Given the description of an element on the screen output the (x, y) to click on. 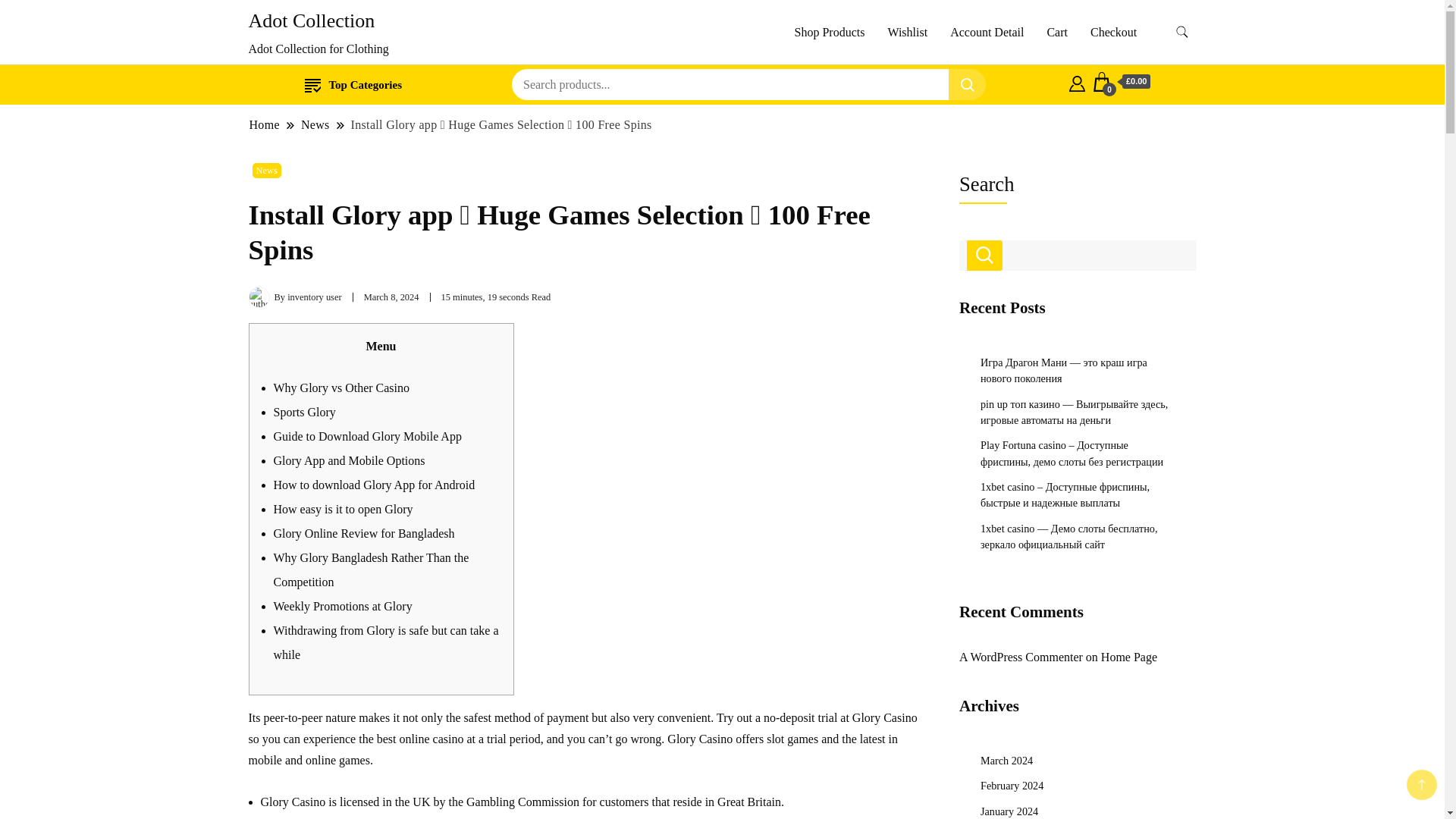
inventory user (314, 296)
Account Detail (986, 32)
Sports Glory (303, 411)
Top Categories (352, 84)
Cart (1121, 82)
Wishlist (907, 32)
News (266, 170)
News (314, 124)
My Account (1076, 81)
Shop Products (829, 32)
March 8, 2024 (391, 296)
Home (264, 124)
Adot Collection (311, 20)
Why Glory vs Other Casino (341, 387)
Checkout (1113, 32)
